Given the description of an element on the screen output the (x, y) to click on. 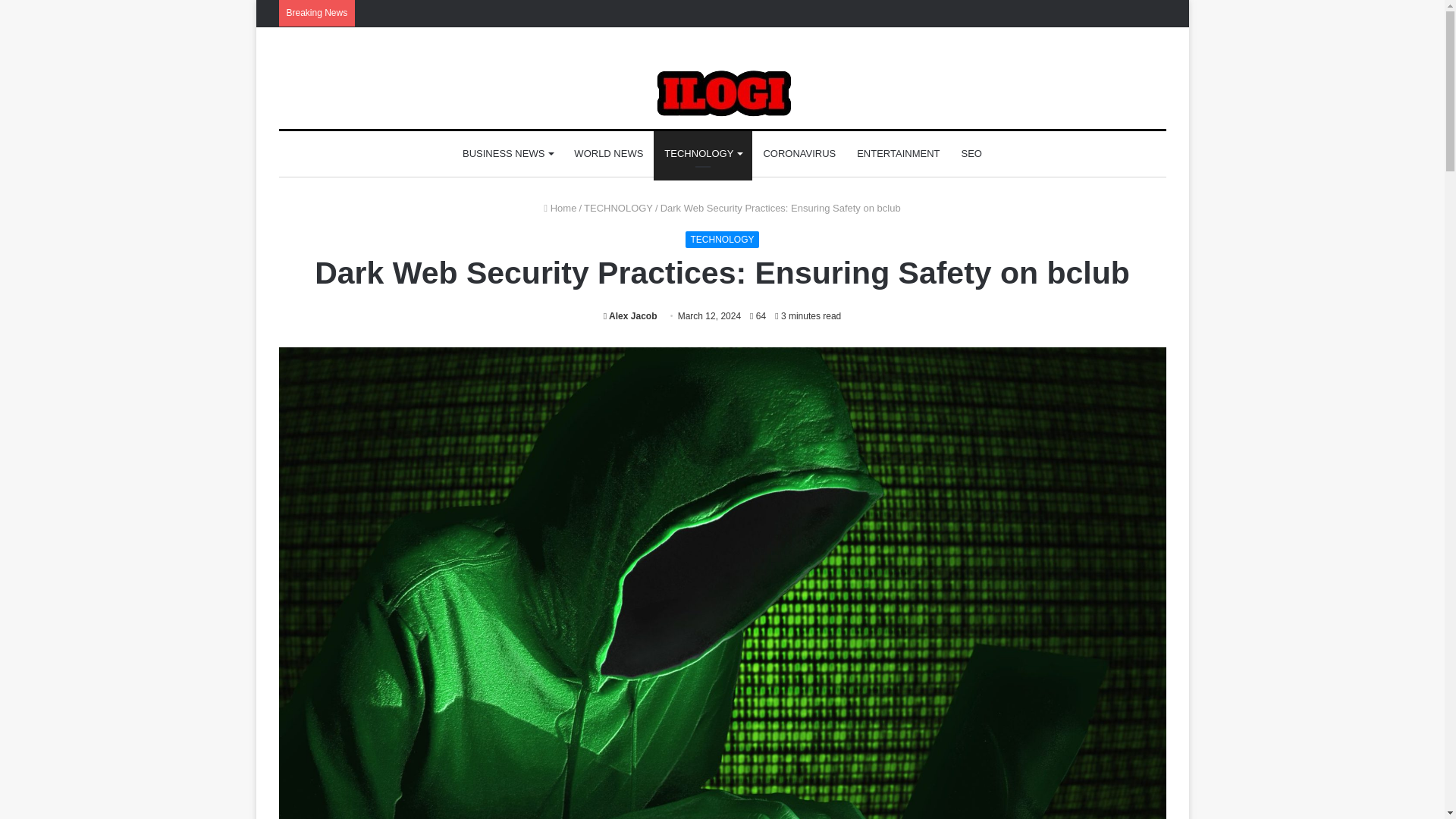
TECHNOLOGY (721, 239)
TECHNOLOGY (702, 153)
WORLD NEWS (608, 153)
Home (559, 207)
BUSINESS NEWS (507, 153)
TECHNOLOGY (617, 207)
Alex Jacob (631, 316)
Alex Jacob (631, 316)
CORONAVIRUS (798, 153)
ENTERTAINMENT (897, 153)
